Given the description of an element on the screen output the (x, y) to click on. 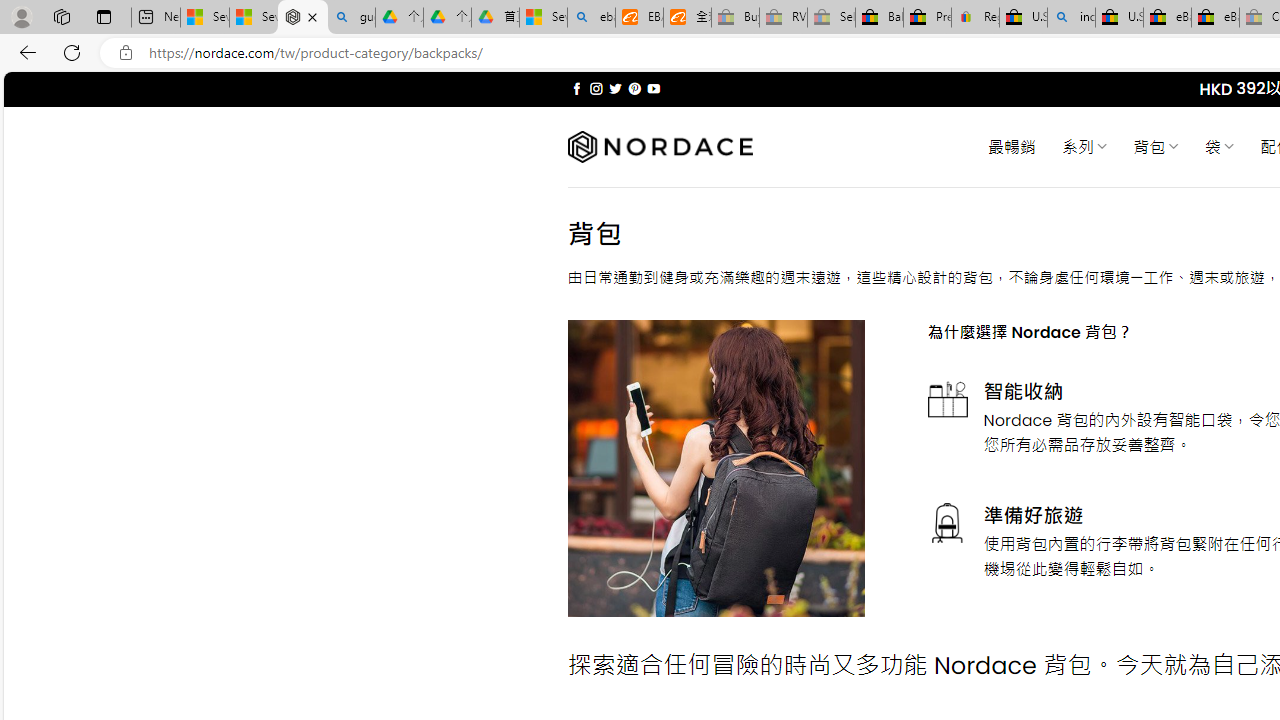
Sell worldwide with eBay - Sleeping (831, 17)
Register: Create a personal eBay account (975, 17)
Follow on YouTube (653, 88)
Buy Auto Parts & Accessories | eBay - Sleeping (735, 17)
Follow on Instagram (596, 88)
guge yunpan - Search (351, 17)
